Given the description of an element on the screen output the (x, y) to click on. 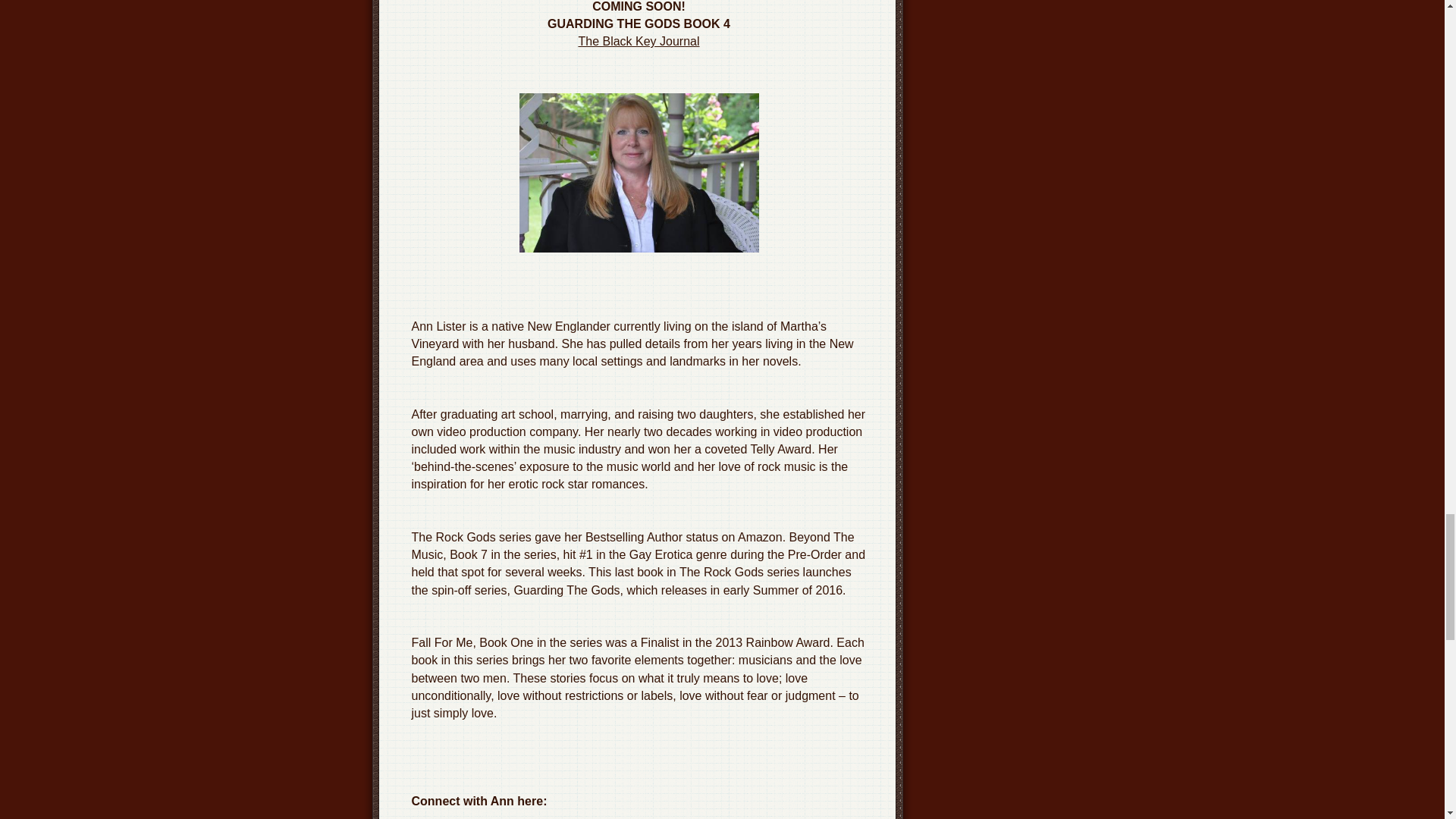
The Black Key Journal (638, 41)
